Given the description of an element on the screen output the (x, y) to click on. 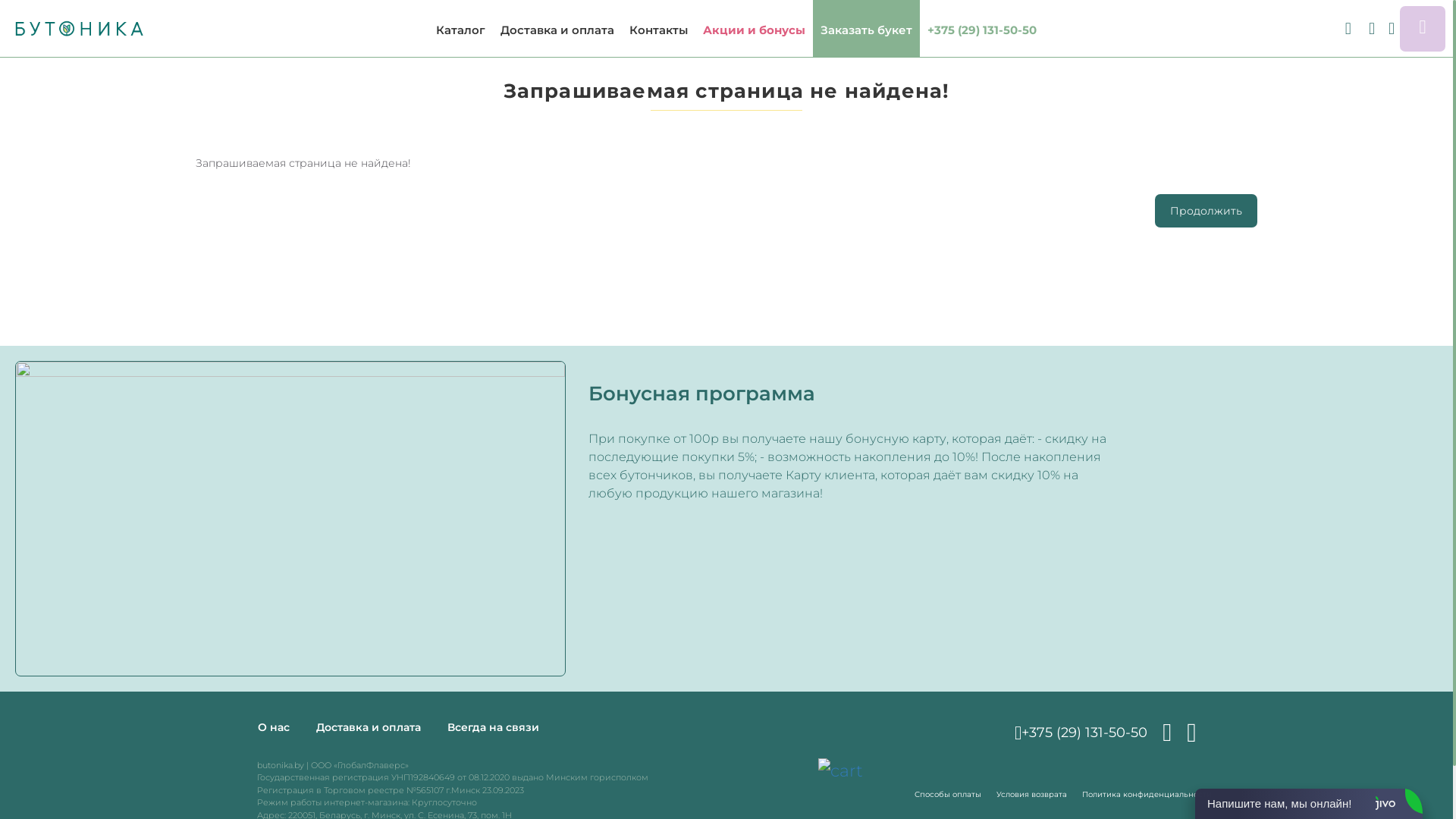
+375 (29) 131-50-50 Element type: text (981, 28)
+375 (29) 131-50-50 Element type: text (1080, 731)
